Given the description of an element on the screen output the (x, y) to click on. 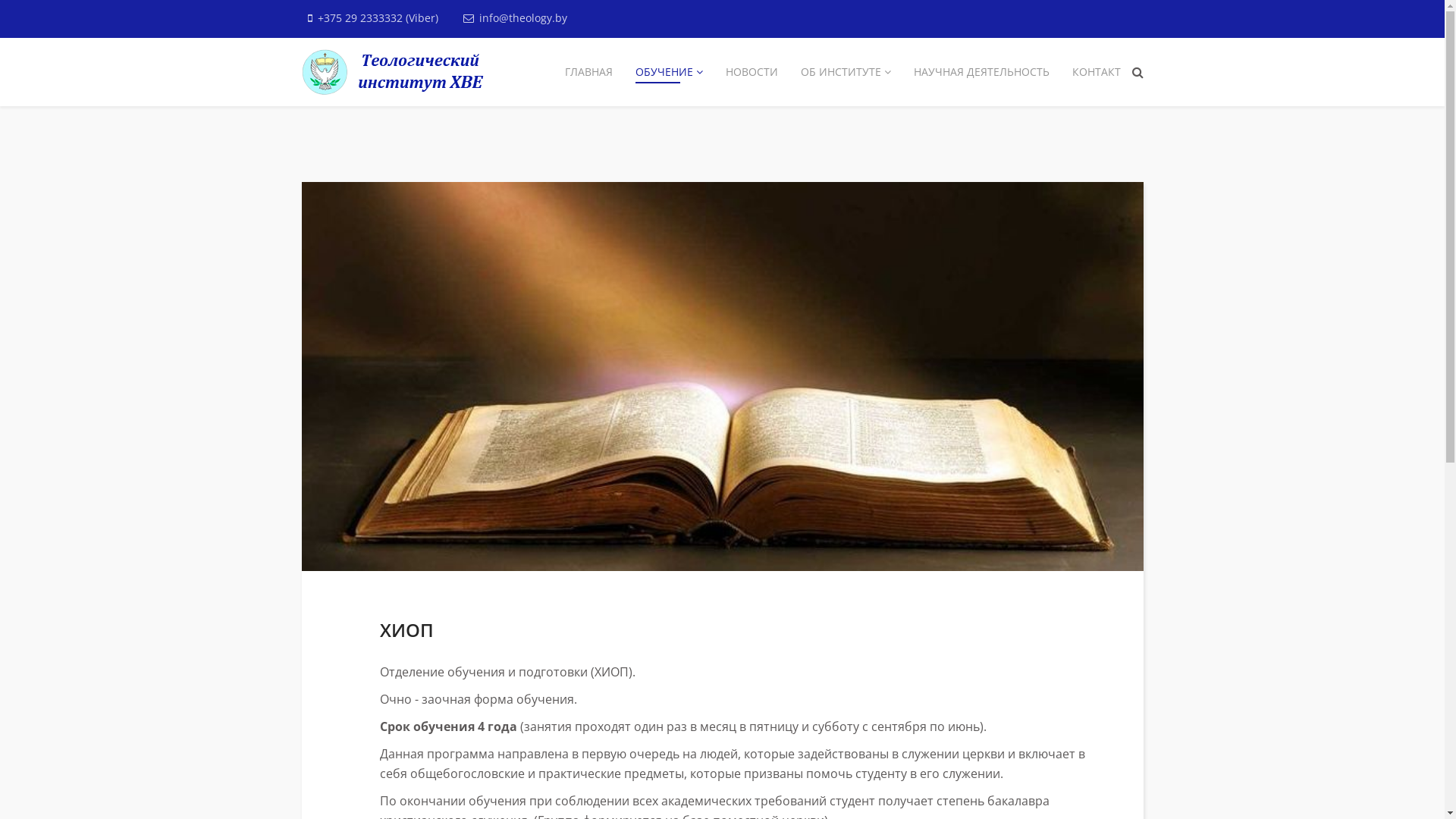
+375 29 2333332 (Viber) Element type: text (376, 17)
info@theology.by Element type: text (523, 17)
